Given the description of an element on the screen output the (x, y) to click on. 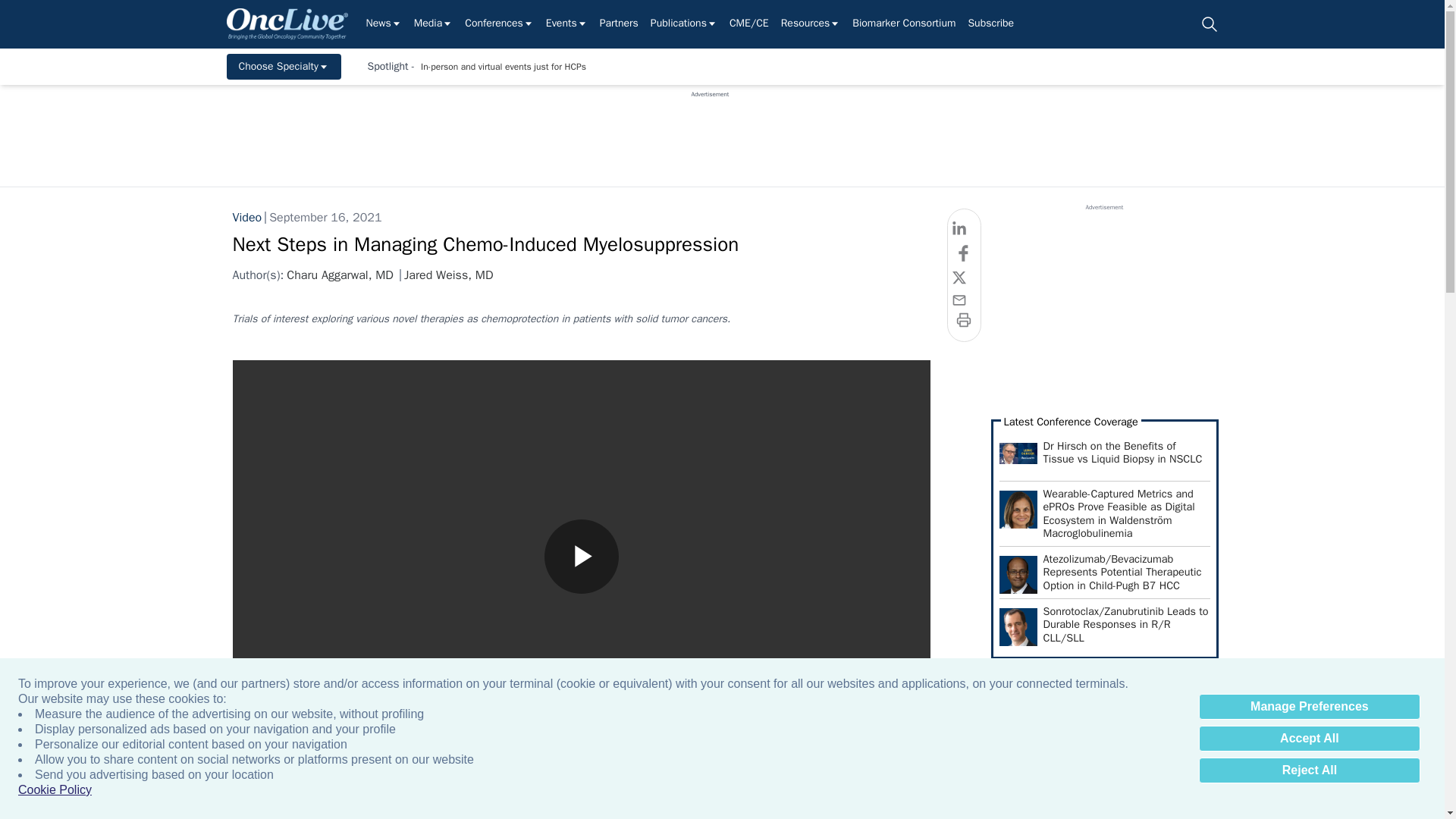
Publications (683, 23)
Events (567, 23)
Manage Preferences (1309, 706)
News (383, 23)
Conferences (499, 23)
Media (432, 23)
Cookie Policy (54, 789)
Accept All (1309, 738)
Play Video (581, 556)
3rd party ad content (710, 132)
